Given the description of an element on the screen output the (x, y) to click on. 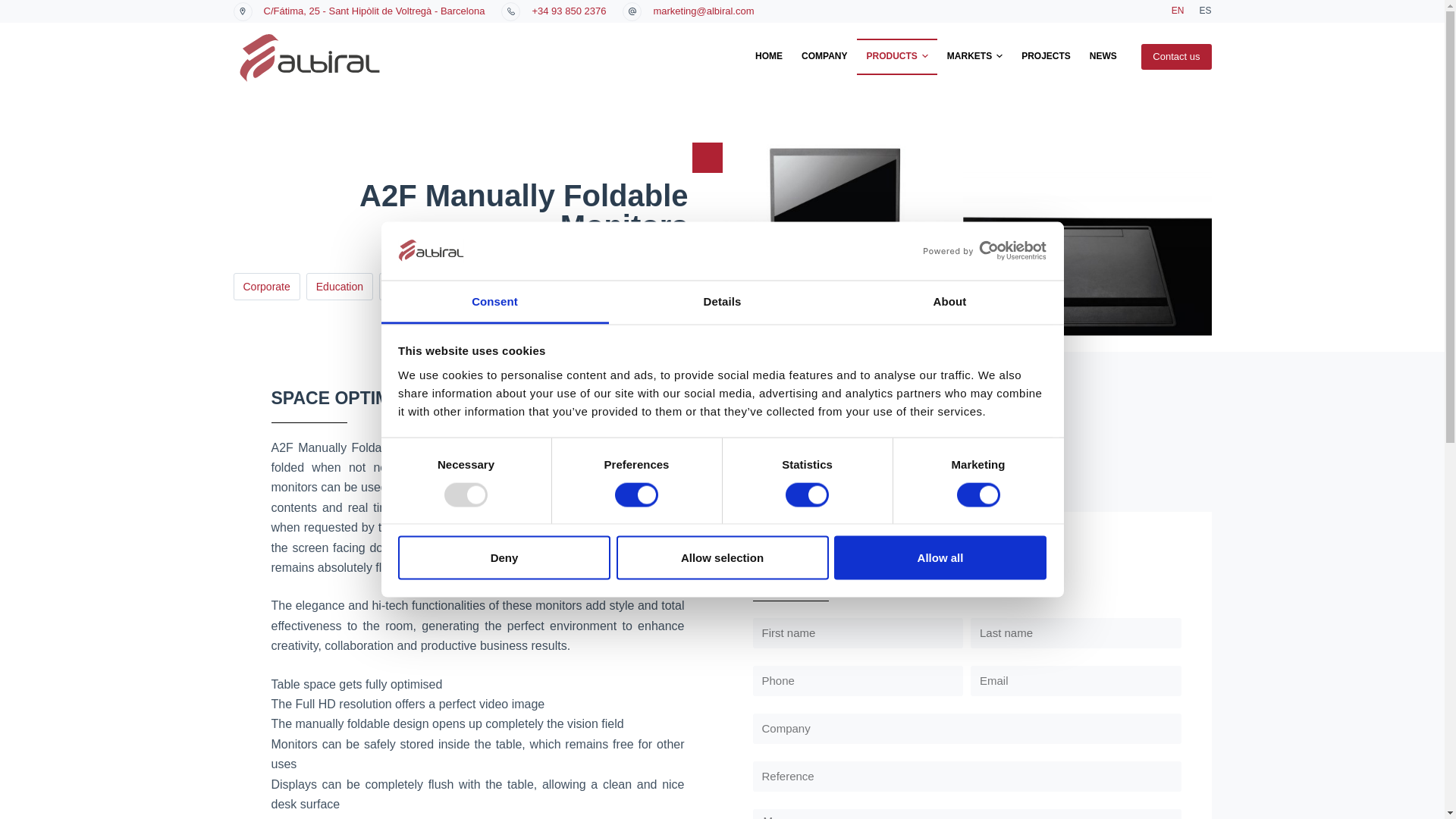
Skip to content (15, 7)
About (948, 301)
Details (721, 301)
Consent (494, 301)
HOME (768, 57)
PRODUCTS (897, 57)
COMPANY (824, 57)
Deny (503, 557)
Allow selection (721, 557)
Allow all (940, 557)
